Given the description of an element on the screen output the (x, y) to click on. 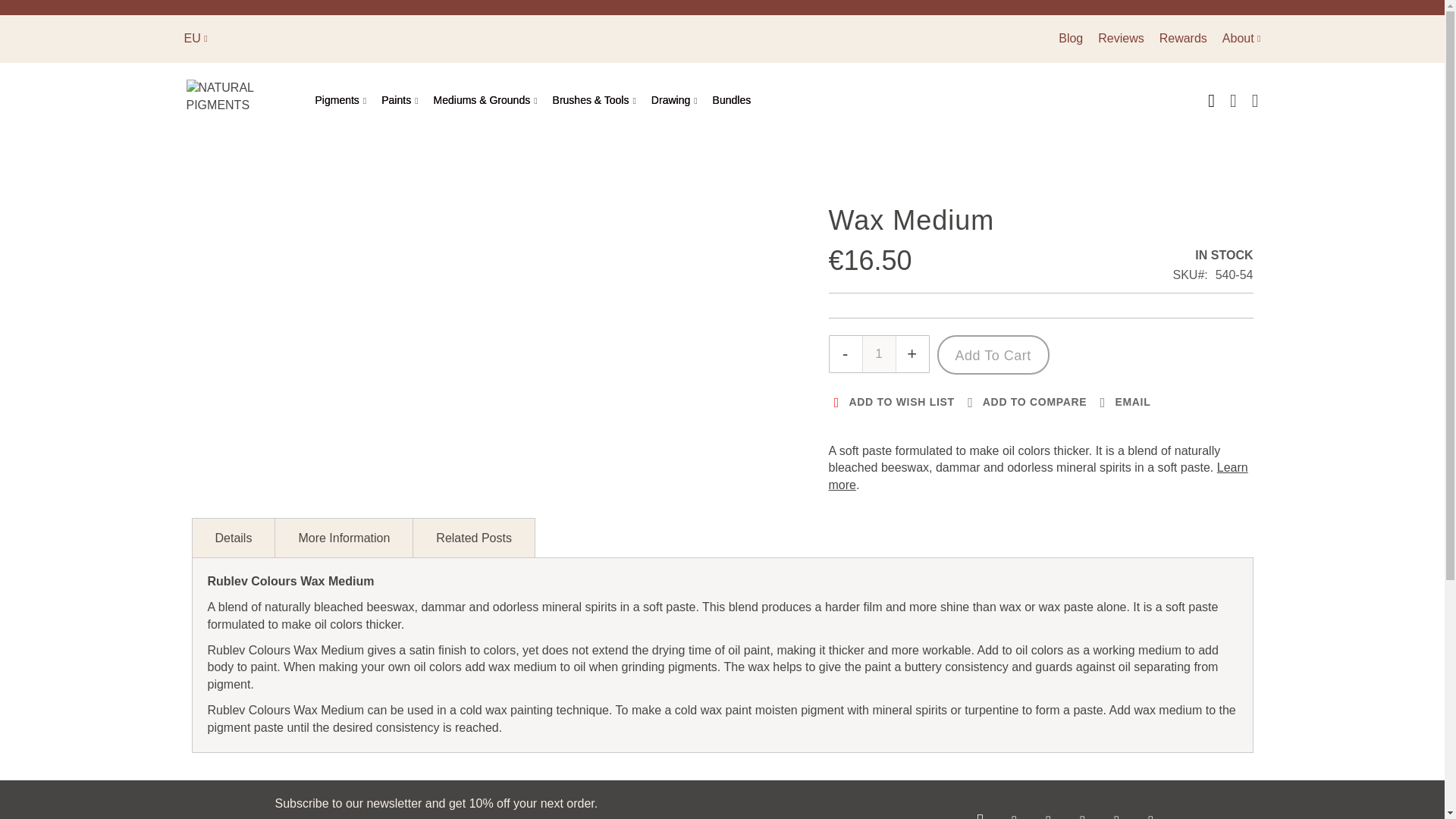
Reviews (1120, 38)
Natural Pigments (242, 100)
Availability (1212, 255)
1 (878, 353)
Blog (1070, 38)
Qty (878, 353)
Pigments (344, 100)
Rewards (1182, 38)
